Given the description of an element on the screen output the (x, y) to click on. 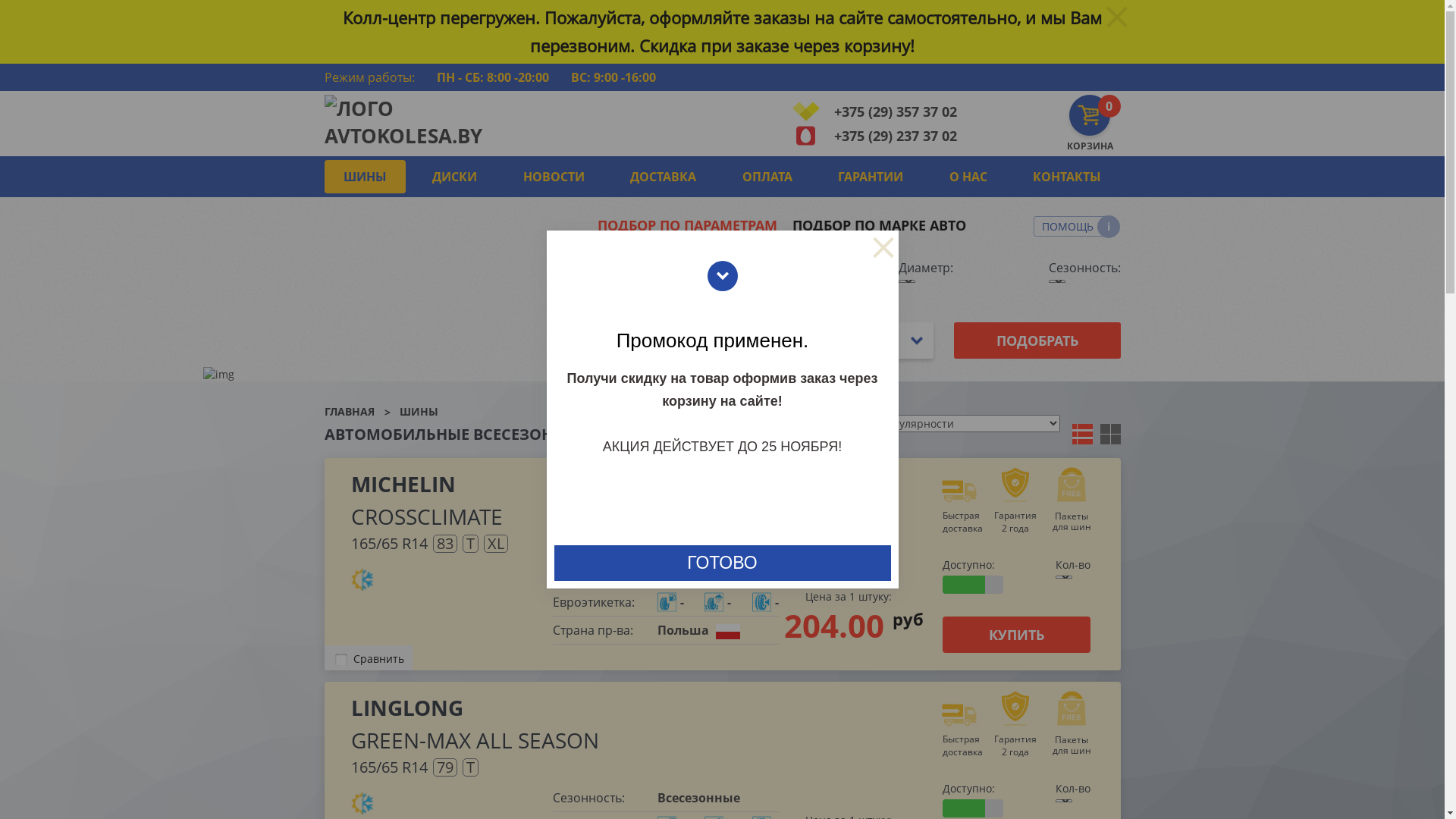
MICHELIN
CROSSCLIMATE Element type: text (638, 499)
LINGLONG
GREEN-MAX ALL SEASON Element type: text (638, 723)
-
-
- Element type: text (717, 601)
